Given the description of an element on the screen output the (x, y) to click on. 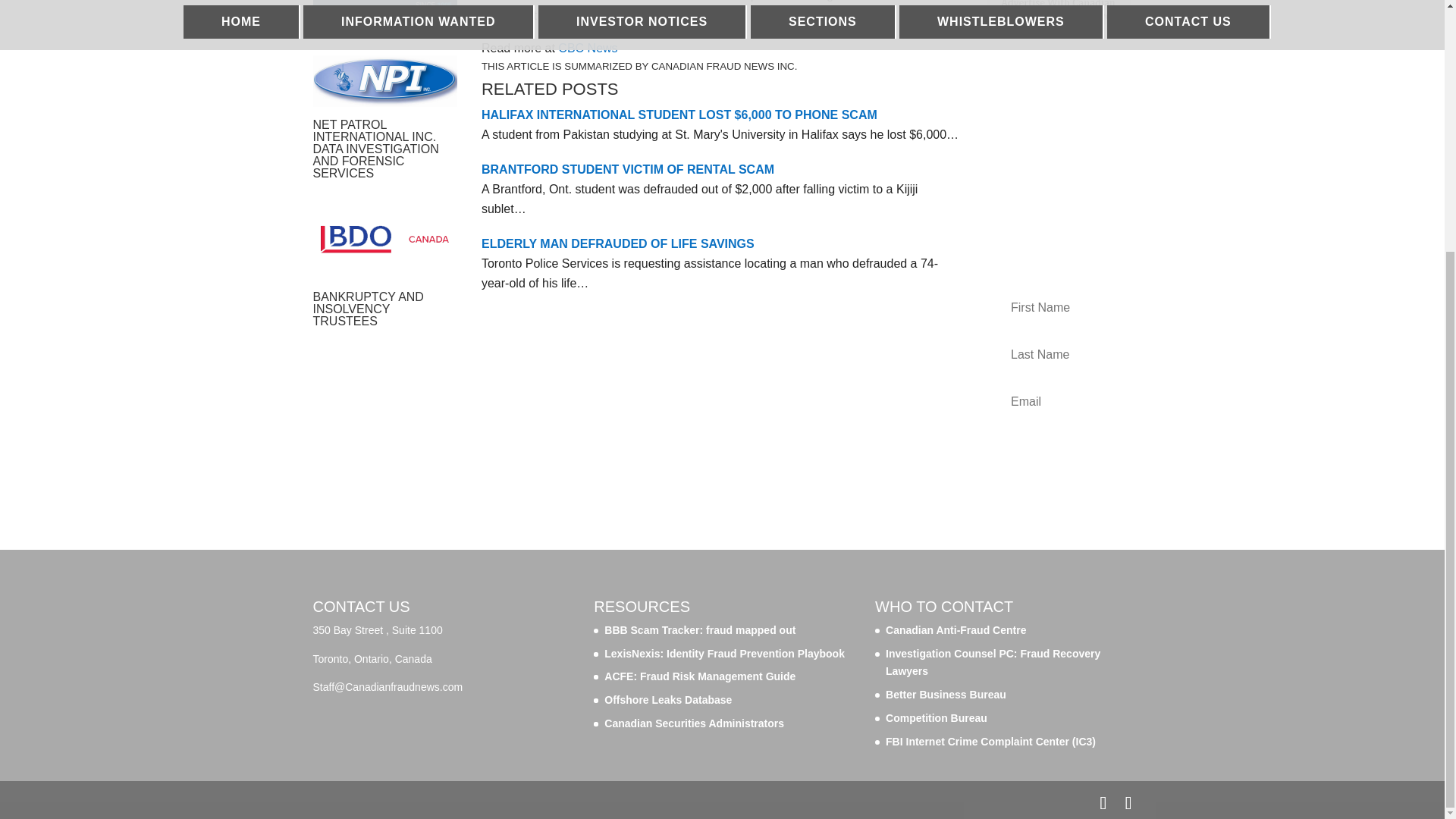
LexisNexis: Identity Fraud Prevention Playbook (724, 653)
ACFE: Fraud Risk Management Guide (699, 676)
reed (385, 19)
Tom (385, 79)
bdo (385, 239)
Investigation Counsel PC: Fraud Recovery Lawyers (992, 662)
Better Business Bureau (945, 694)
Offshore Leaks Database (668, 699)
CBC News (587, 47)
Canadian Securities Administrators (694, 723)
